Given the description of an element on the screen output the (x, y) to click on. 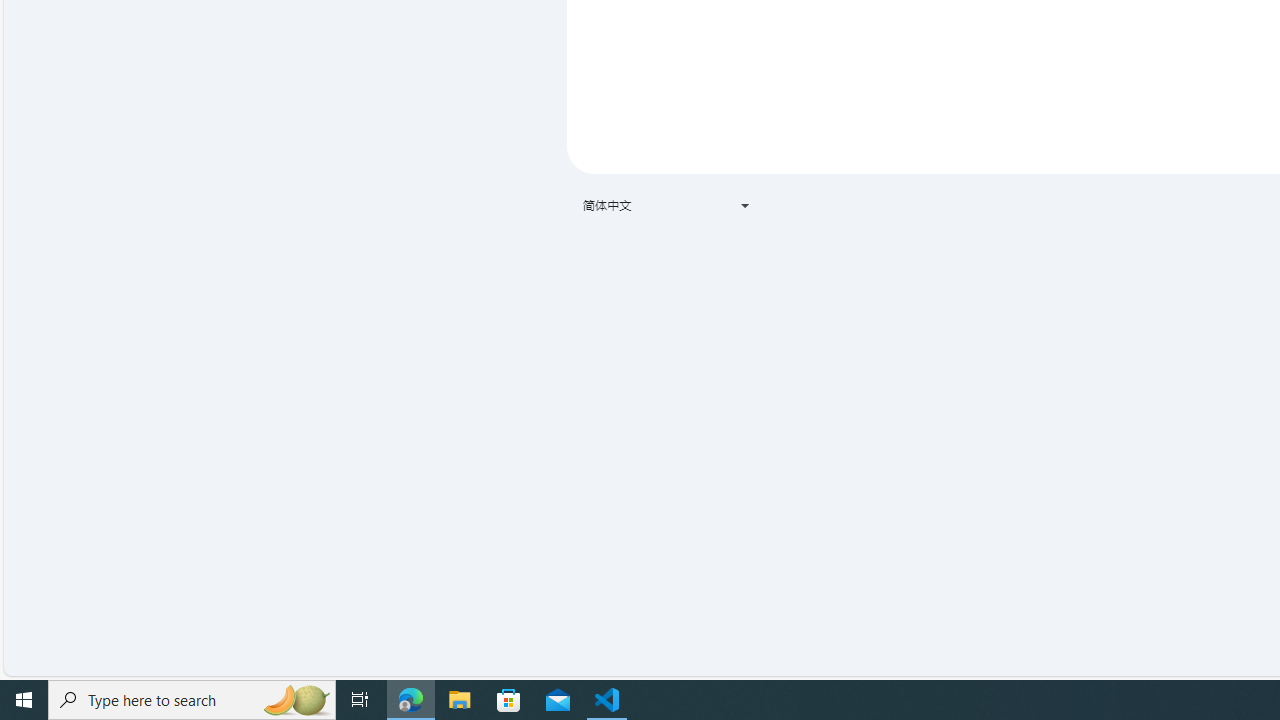
Class: VfPpkd-t08AT-Bz112c-Bd00G (744, 205)
